Given the description of an element on the screen output the (x, y) to click on. 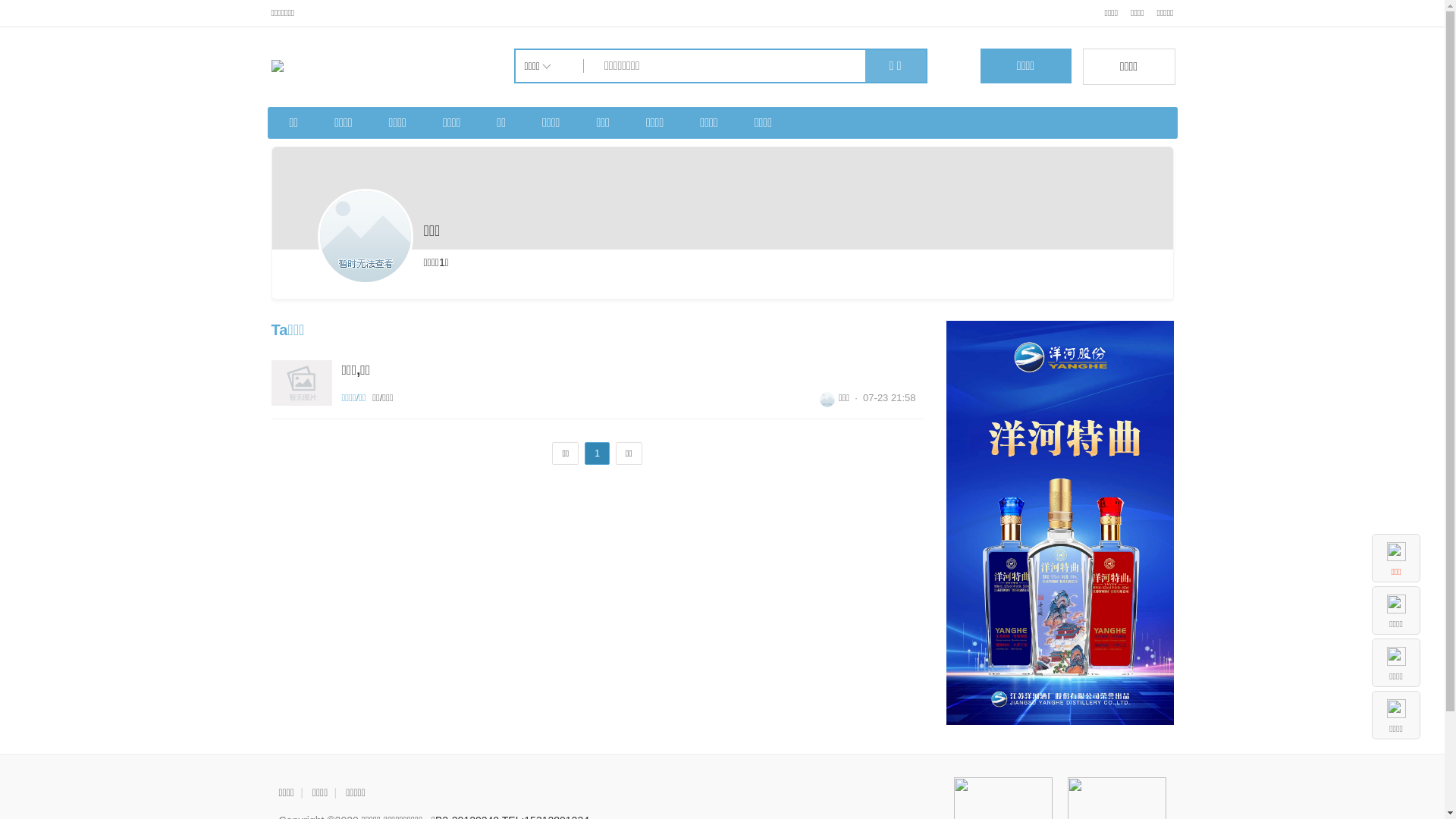
1 Element type: text (596, 453)
